Given the description of an element on the screen output the (x, y) to click on. 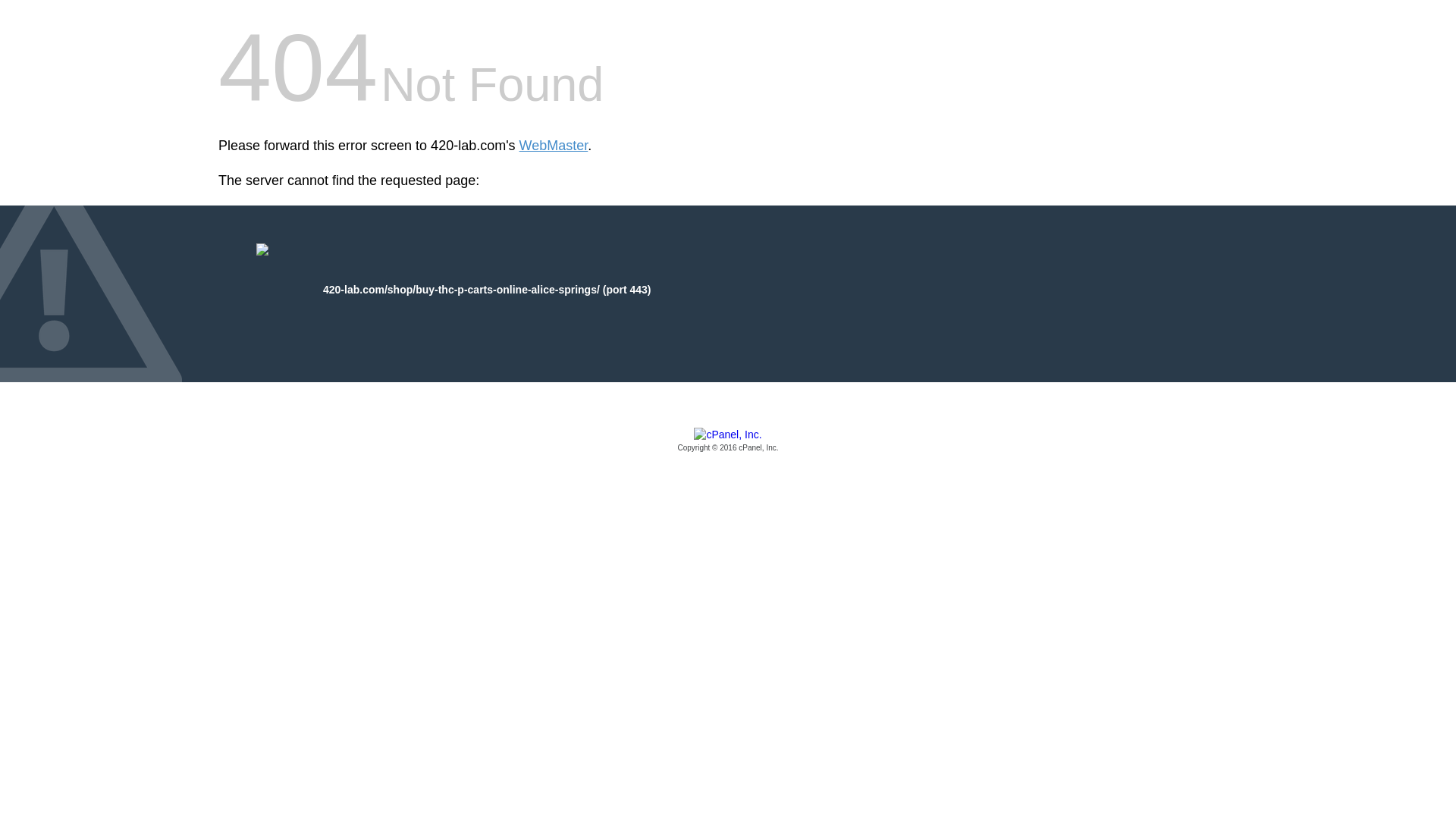
WebMaster (553, 145)
cPanel, Inc. (727, 440)
